Given the description of an element on the screen output the (x, y) to click on. 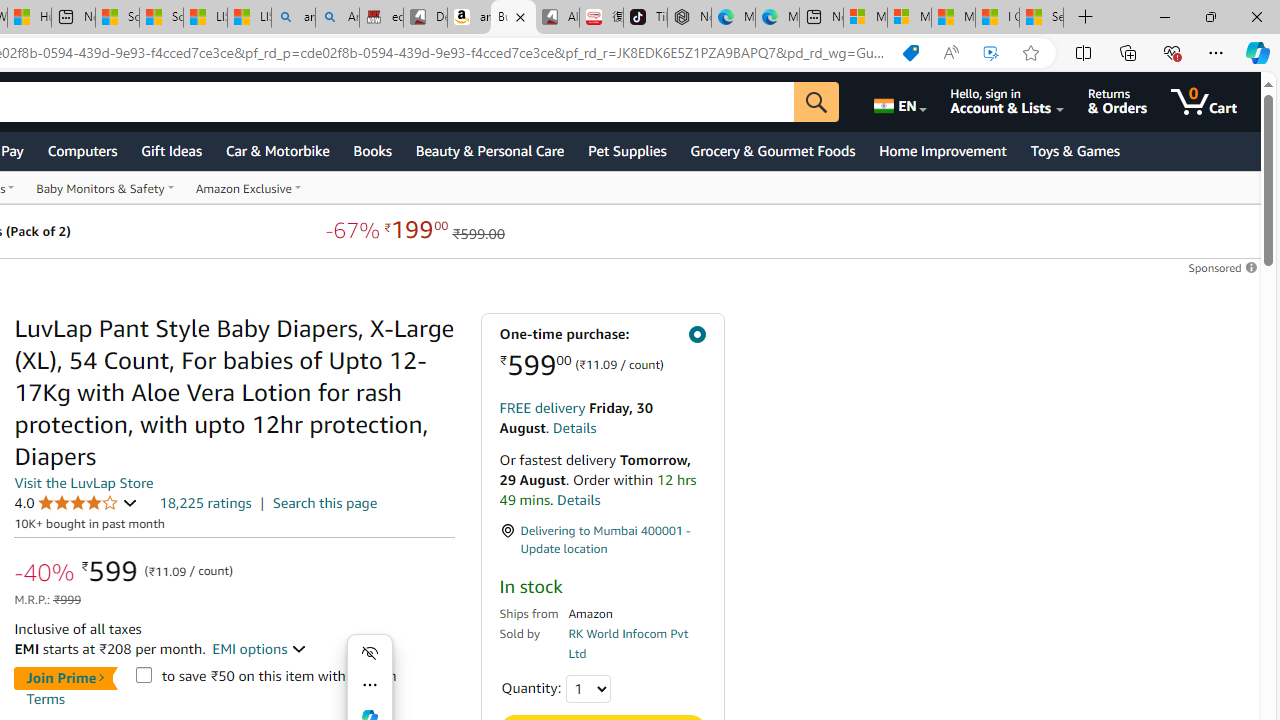
Amazon Echo Dot PNG - Search Images (337, 17)
Hide menu (369, 652)
